Given the description of an element on the screen output the (x, y) to click on. 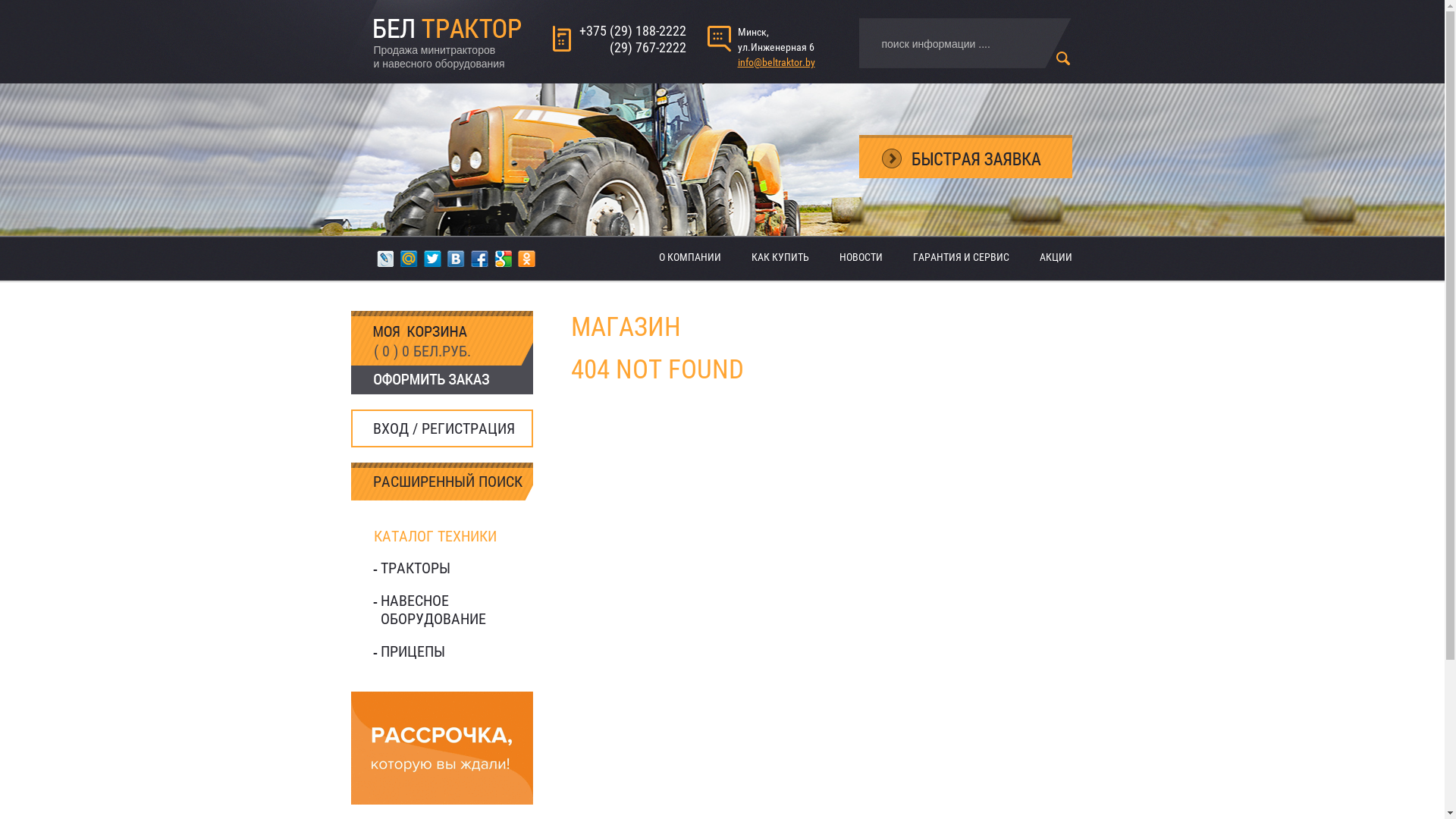
info@beltraktor.by Element type: text (775, 62)
Twitter Element type: hover (431, 258)
LiveJournal Element type: hover (384, 258)
Google Plus Element type: hover (502, 258)
Facebook Element type: hover (478, 258)
